Given the description of an element on the screen output the (x, y) to click on. 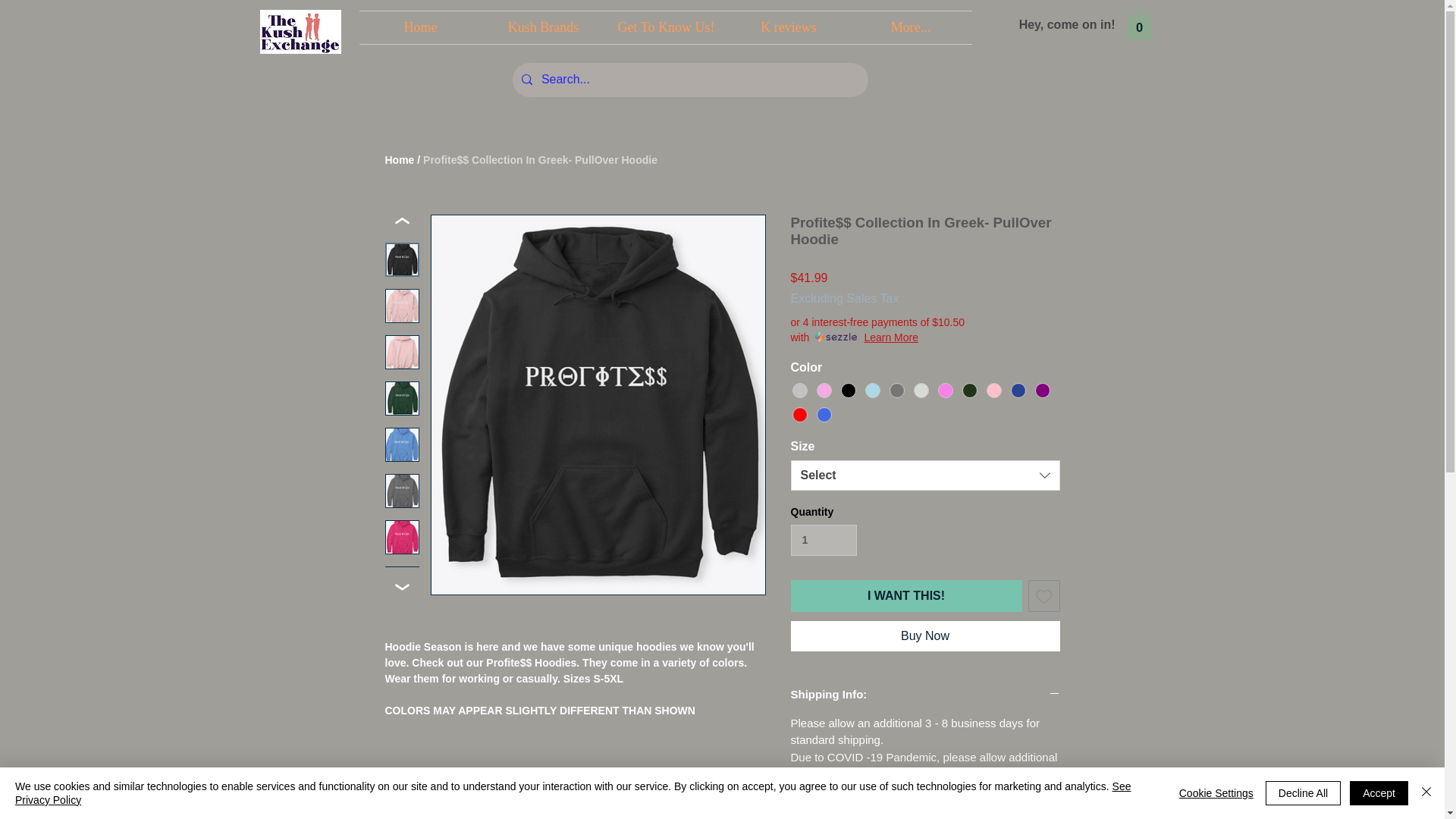
0 (1138, 24)
0 (1138, 24)
Kush Brands (543, 27)
Learn More (890, 337)
Home (420, 27)
Get To Know Us! (666, 27)
K reviews (789, 27)
1 (823, 540)
Hey, come on in! (1067, 24)
Home (399, 159)
